Given the description of an element on the screen output the (x, y) to click on. 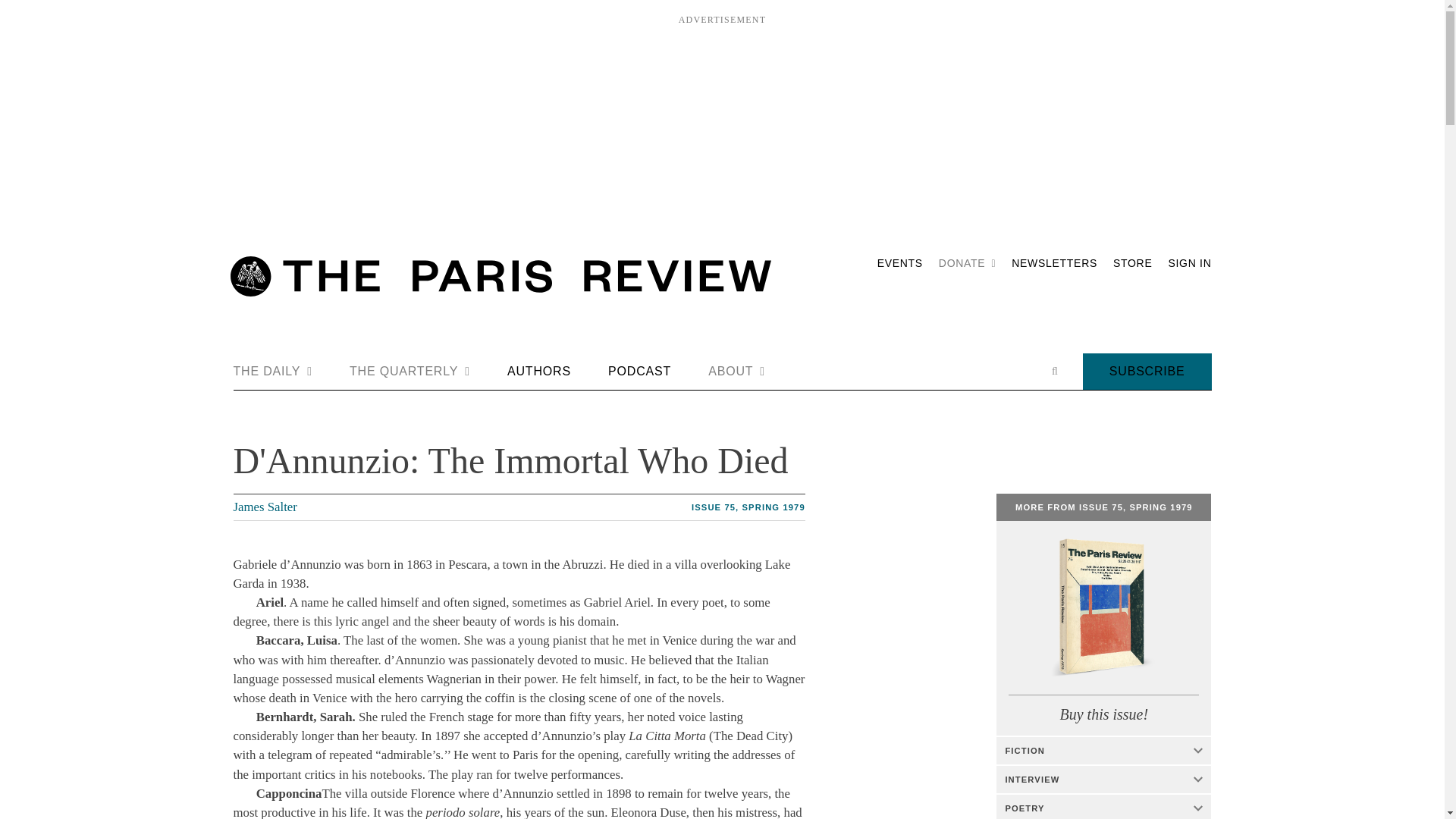
THE QUARTERLY (409, 371)
THE DAILY (272, 371)
Open search (1054, 371)
